Given the description of an element on the screen output the (x, y) to click on. 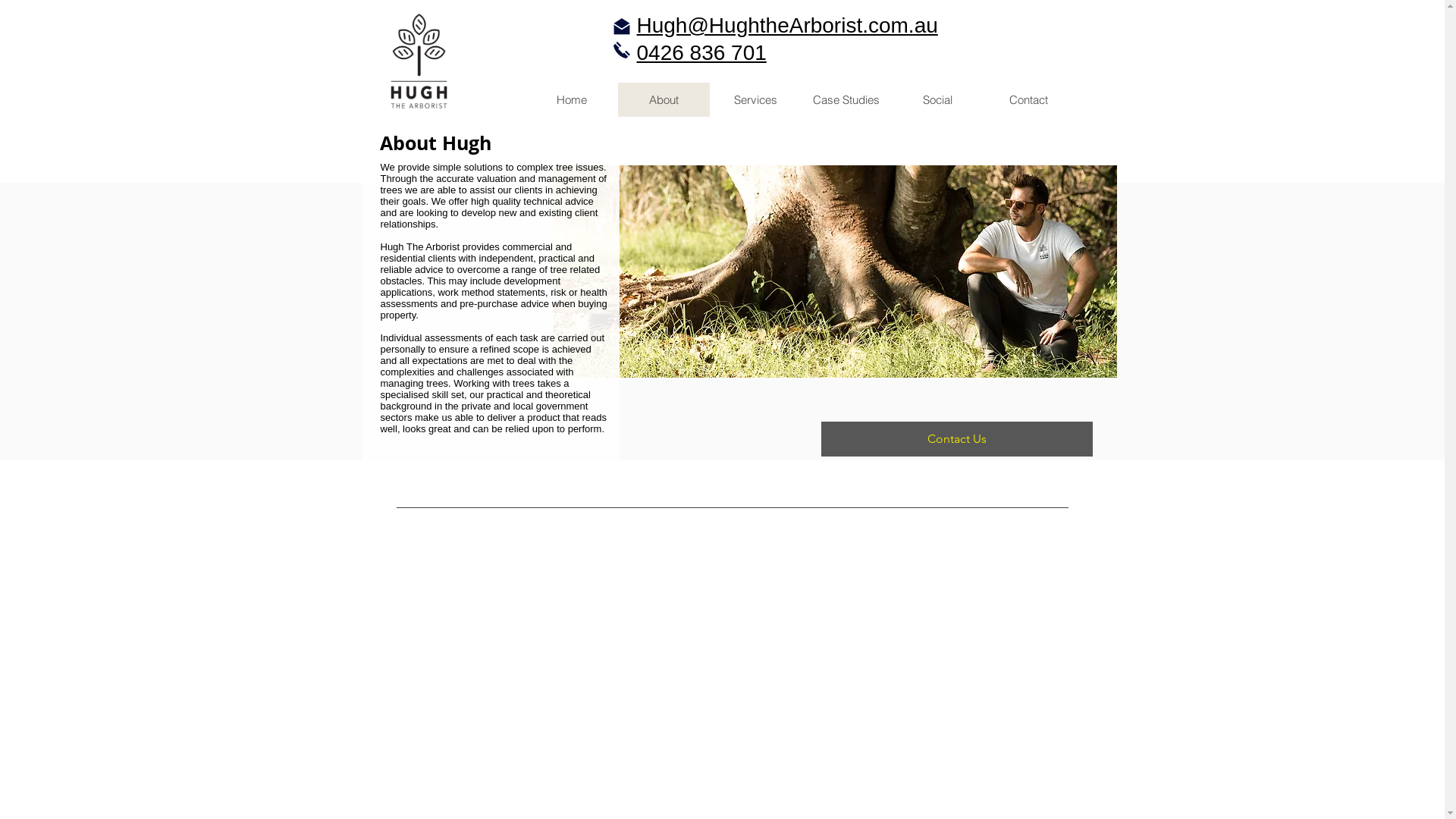
Services Element type: text (754, 99)
Hugh@HughtheArborist.com.au Element type: text (787, 25)
Contact Element type: text (1027, 99)
0426 836 701 Element type: text (701, 52)
About Element type: text (663, 99)
Case Studies Element type: text (845, 99)
Home Element type: text (572, 99)
Social Element type: text (936, 99)
Contact Us Element type: text (956, 438)
